Given the description of an element on the screen output the (x, y) to click on. 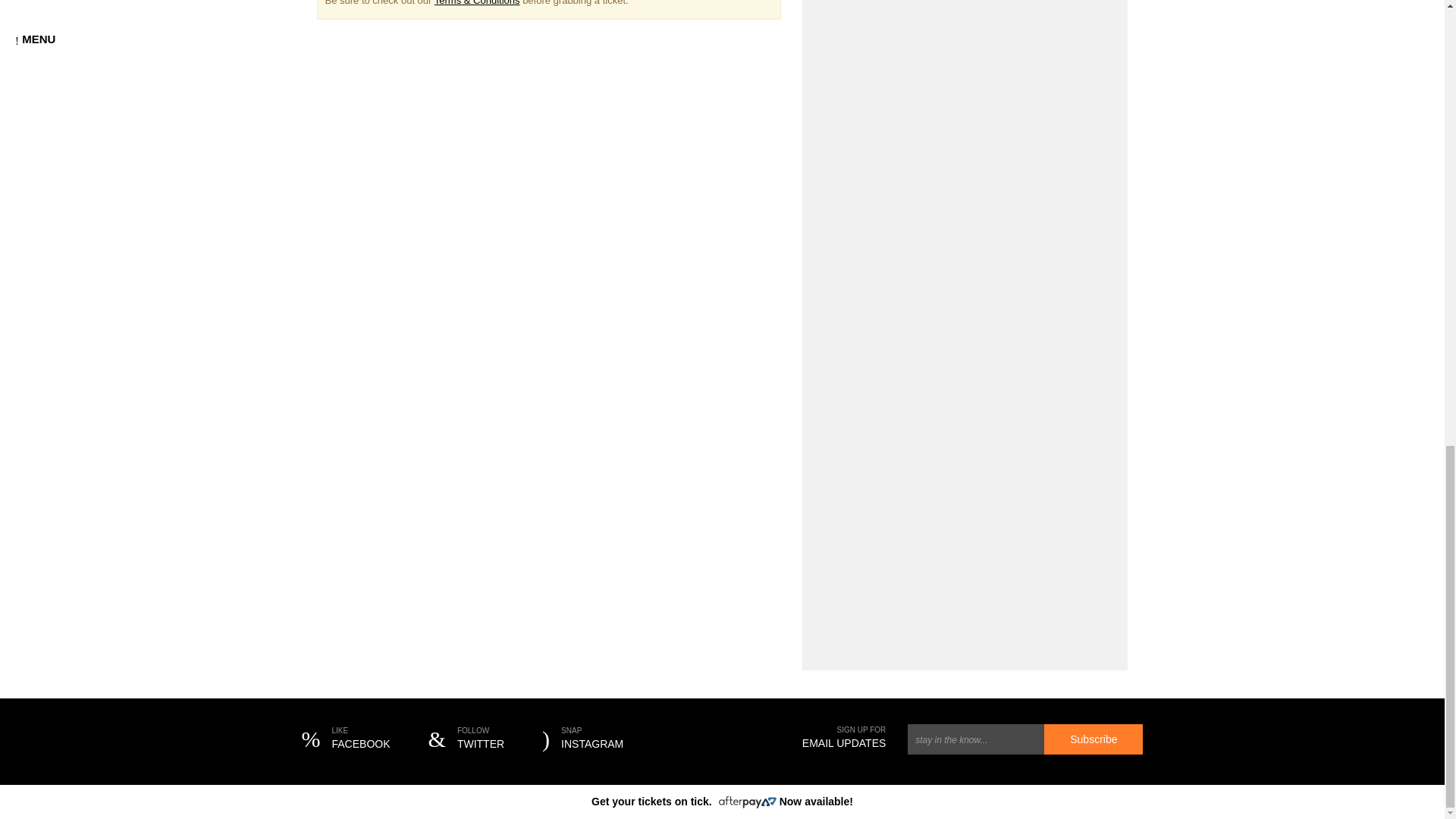
Subscribe (1092, 738)
Subscribe (582, 739)
